Given the description of an element on the screen output the (x, y) to click on. 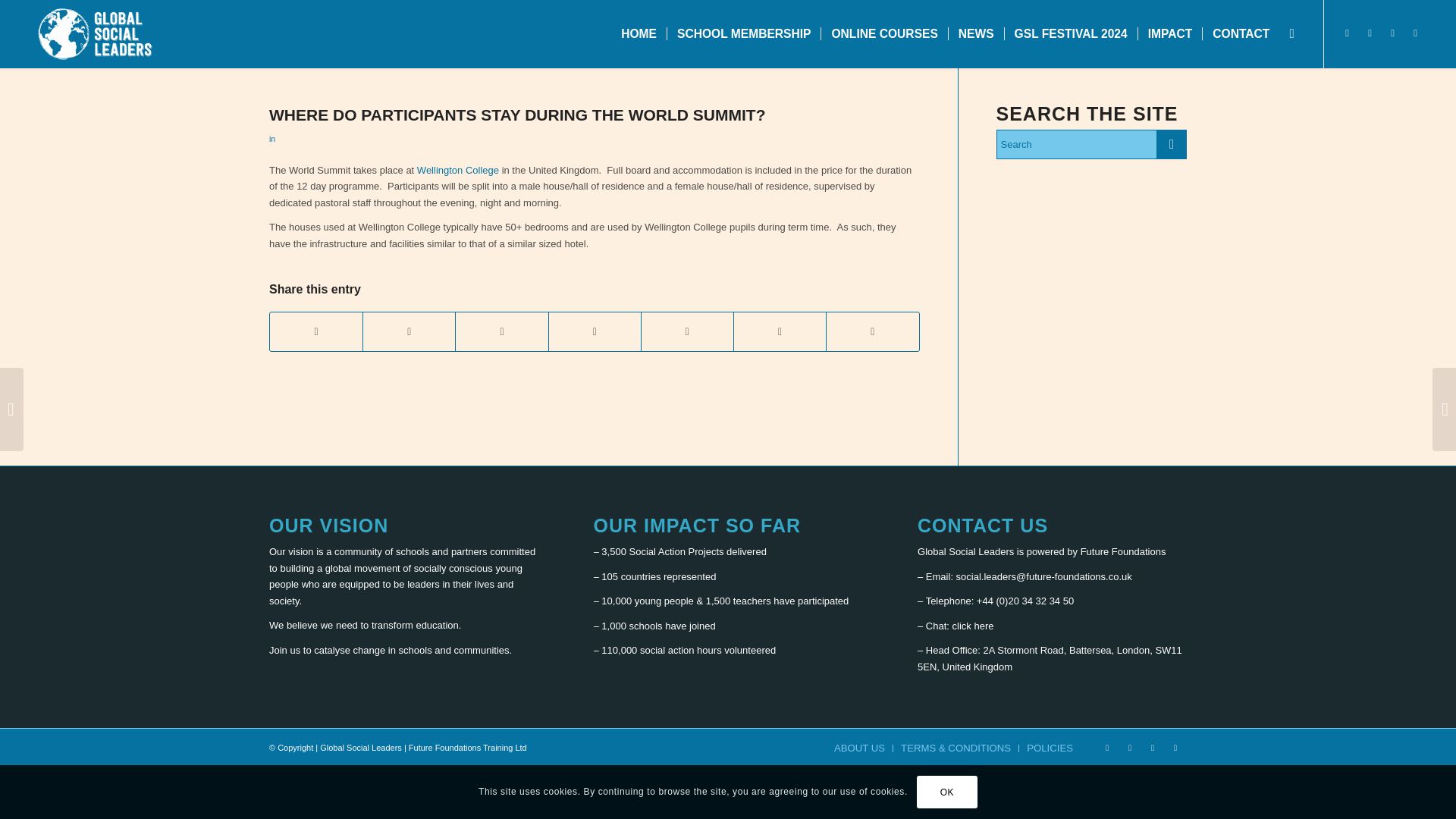
IMPACT (1169, 33)
Twitter (1347, 33)
CONTACT (1240, 33)
Wellington College (457, 170)
LinkedIn (1415, 33)
Facebook (1369, 33)
GSL FESTIVAL 2024 (1070, 33)
SCHOOL MEMBERSHIP (743, 33)
ONLINE COURSES (884, 33)
Instagram (1393, 33)
